Given the description of an element on the screen output the (x, y) to click on. 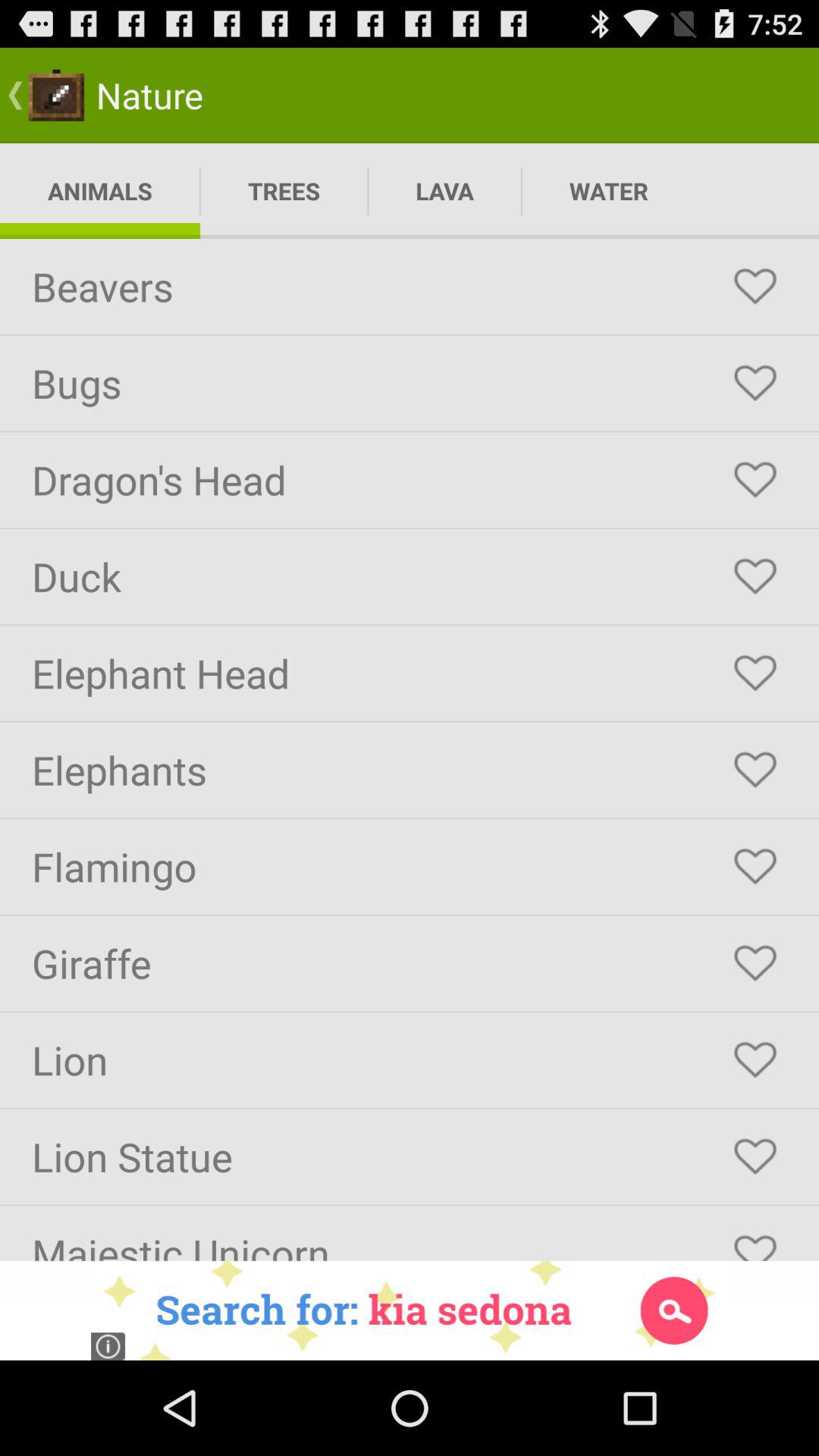
like/love given topic (755, 576)
